Given the description of an element on the screen output the (x, y) to click on. 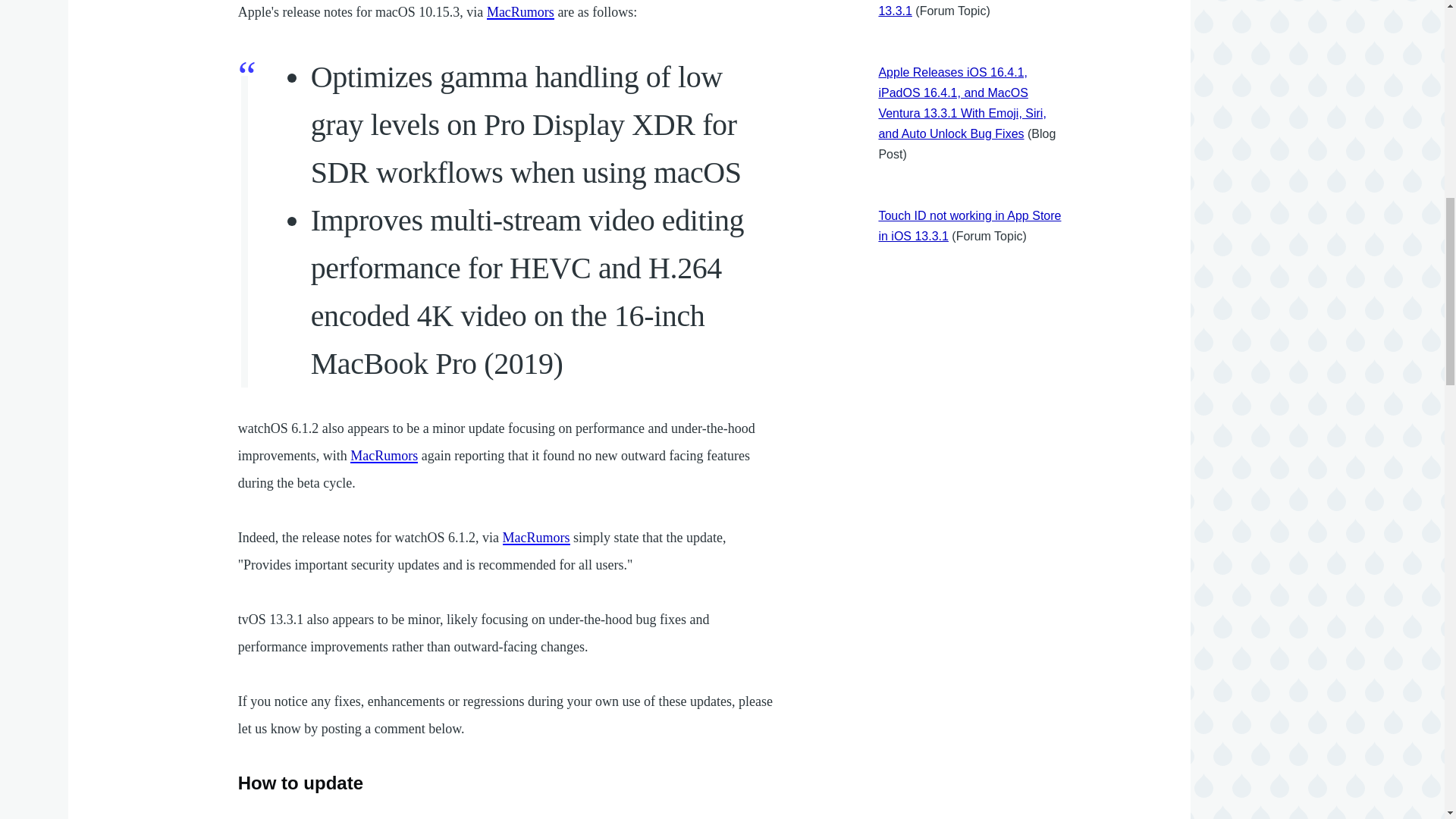
MacRumors (536, 537)
Touch ID not working in App Store in iOS 13.3.1 (969, 225)
MacRumors (383, 455)
MacRumors (520, 11)
